Given the description of an element on the screen output the (x, y) to click on. 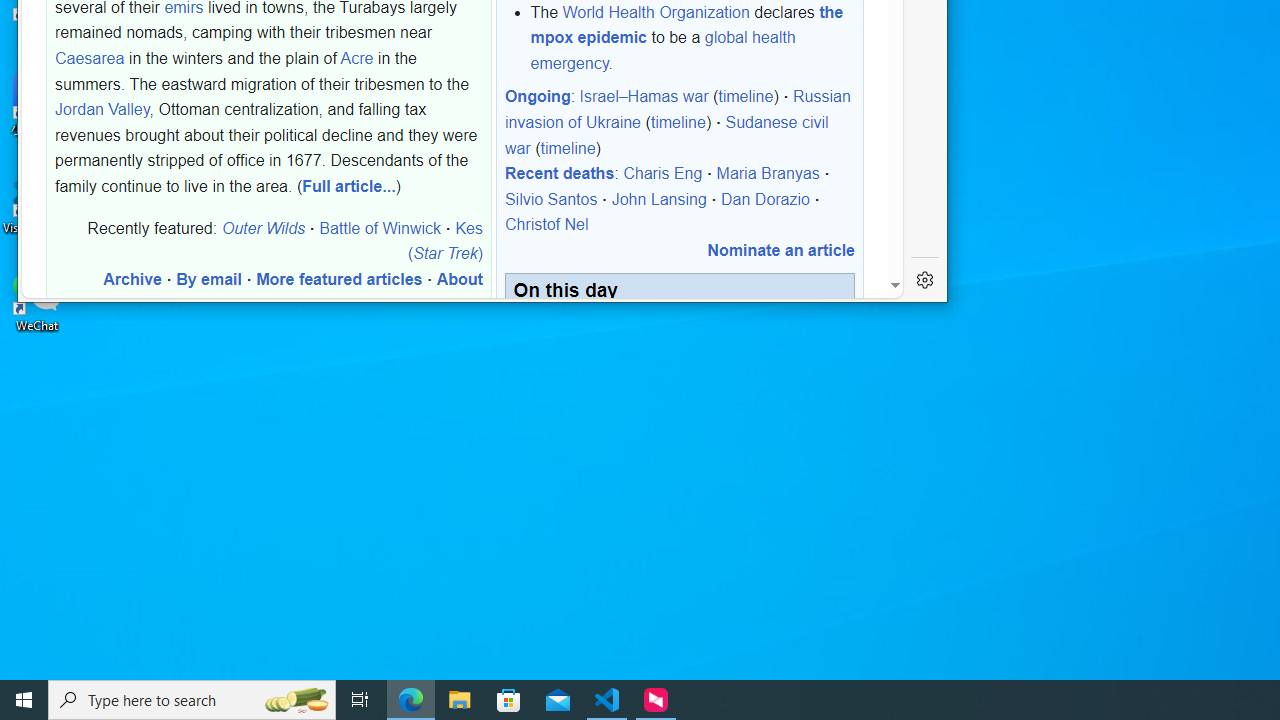
Microsoft Store (509, 699)
Start (24, 699)
File Explorer (460, 699)
Search highlights icon opens search home window (295, 699)
Microsoft Edge - 1 running window (411, 699)
Task View (359, 699)
Type here to search (191, 699)
Visual Studio Code - 1 running window (607, 699)
